Given the description of an element on the screen output the (x, y) to click on. 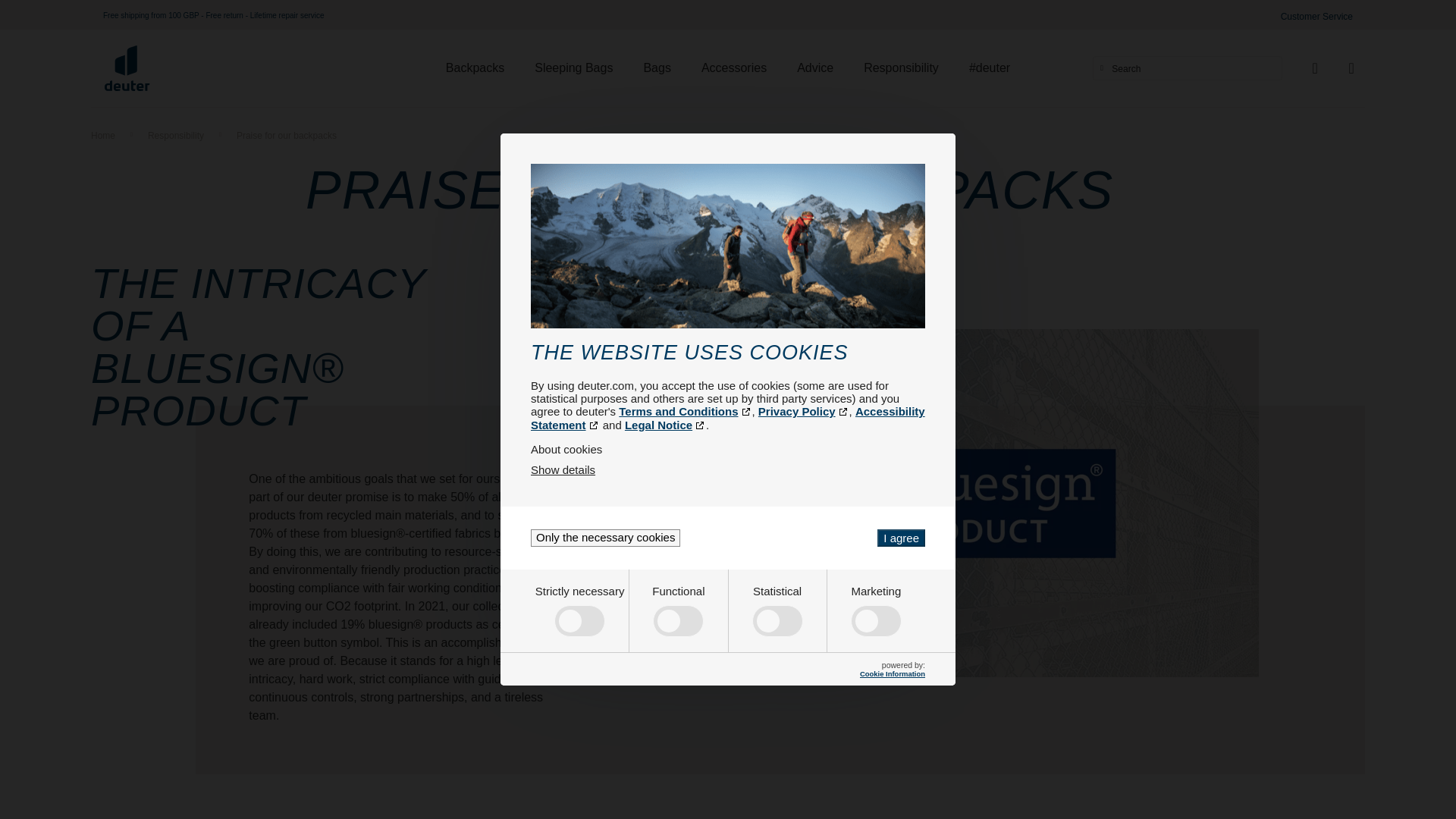
Privacy Policy (803, 410)
opens in a new tab (684, 410)
opens in a new tab (665, 424)
Legal Notice (665, 424)
opens in a new tab (803, 410)
Deuter Logo (126, 67)
Show details (563, 469)
Terms and Conditions (684, 410)
Accessibility Statement (727, 417)
opens in a new tab (727, 417)
